Given the description of an element on the screen output the (x, y) to click on. 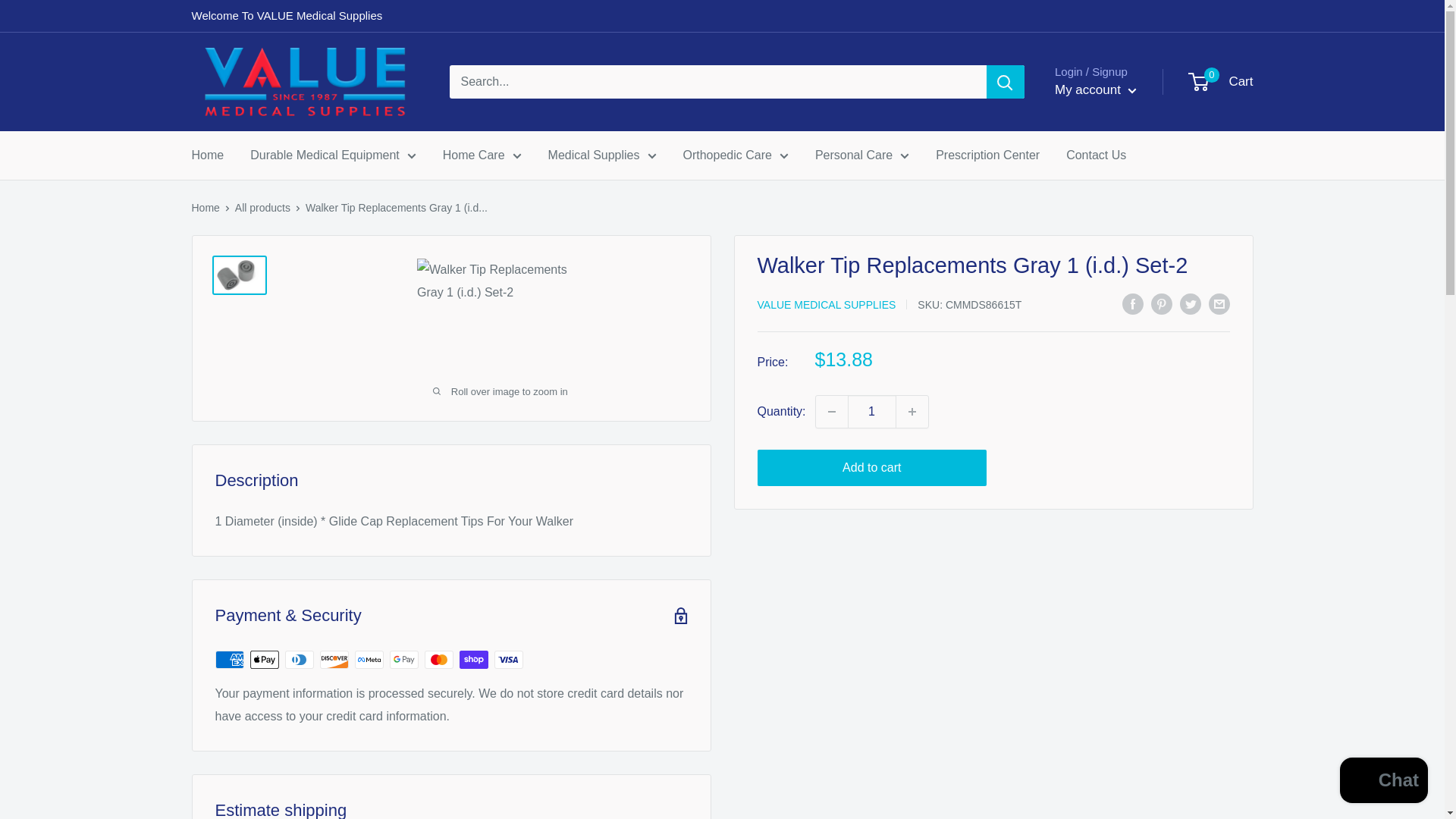
Welcome To VALUE Medical Supplies (285, 15)
Shopify online store chat (1383, 781)
Increase quantity by 1 (912, 411)
1 (871, 411)
Decrease quantity by 1 (831, 411)
